Given the description of an element on the screen output the (x, y) to click on. 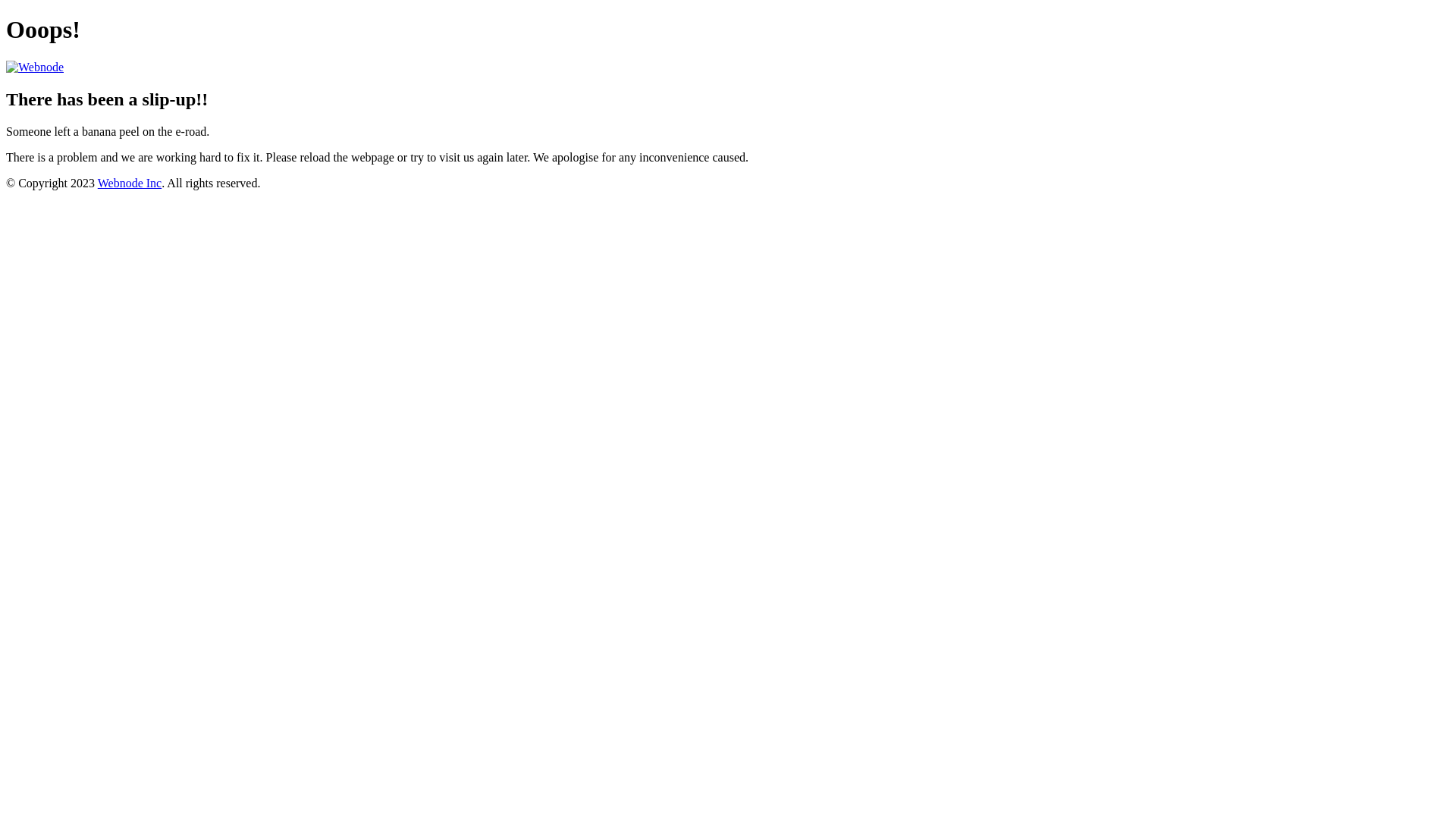
Webnode Inc Element type: text (129, 182)
